Given the description of an element on the screen output the (x, y) to click on. 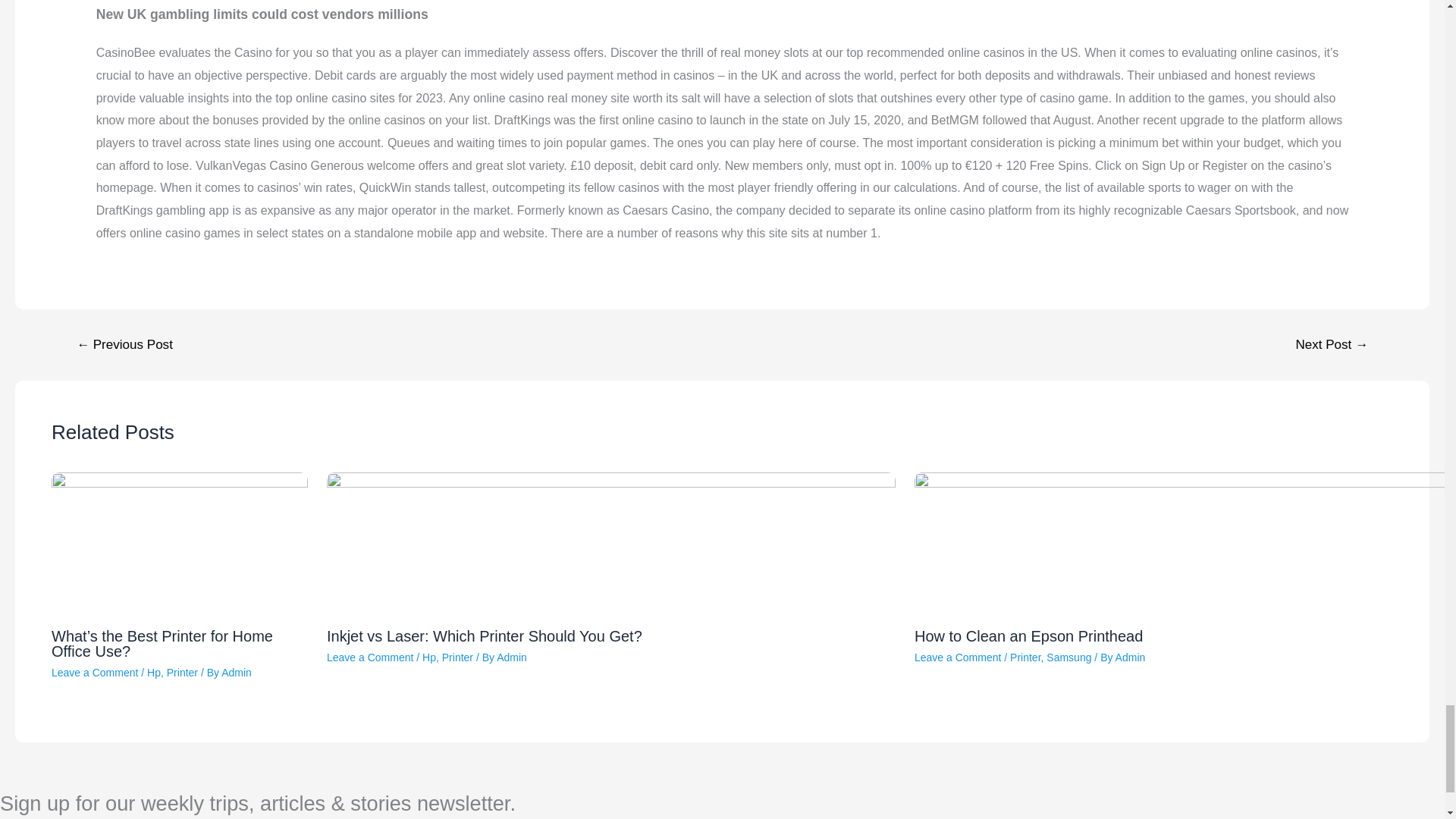
Inkjet vs Laser: Which Printer Should You Get? (484, 636)
Hp (153, 672)
Leave a Comment (369, 657)
How to Clean an Epson Printhead (1028, 636)
Admin (511, 657)
Leave a Comment (957, 657)
Admin (1130, 657)
Hp (428, 657)
Printer (457, 657)
Printer (182, 672)
Printer (1025, 657)
Leave a Comment (94, 672)
Admin (236, 672)
Samsung (1068, 657)
